Given the description of an element on the screen output the (x, y) to click on. 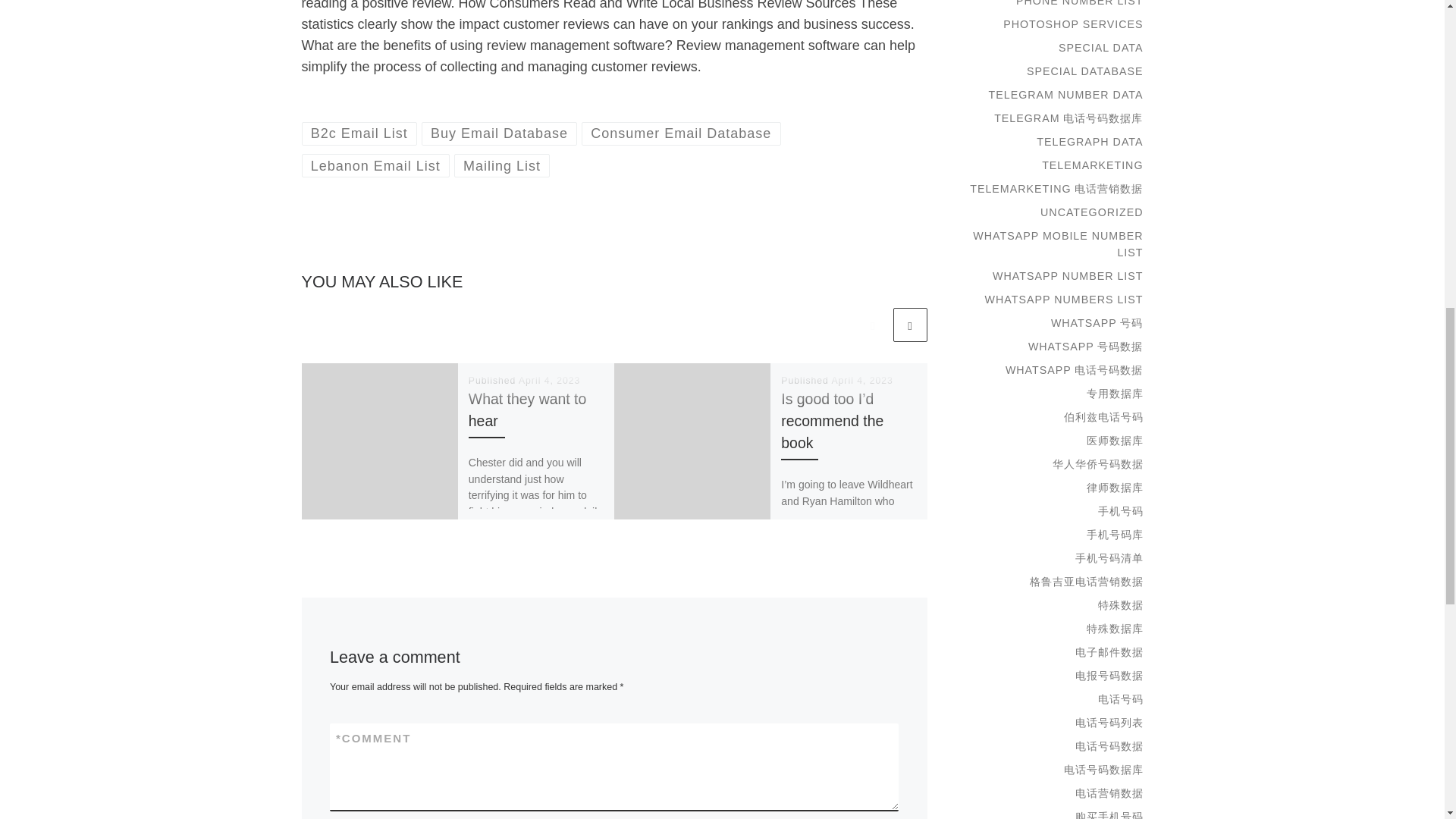
Mailing List (502, 165)
View all posts in B2c Email List (359, 133)
View all posts in Mailing List (502, 165)
View all posts in Consumer Email Database (680, 133)
What they want to hear (527, 409)
Consumer Email Database (680, 133)
Lebanon Email List (375, 165)
View all posts in Lebanon Email List (375, 165)
View all posts in Buy Email Database (500, 133)
Buy Email Database (500, 133)
B2c Email List (359, 133)
April 4, 2023 (861, 380)
Next related articles (910, 324)
April 4, 2023 (548, 380)
